Given the description of an element on the screen output the (x, y) to click on. 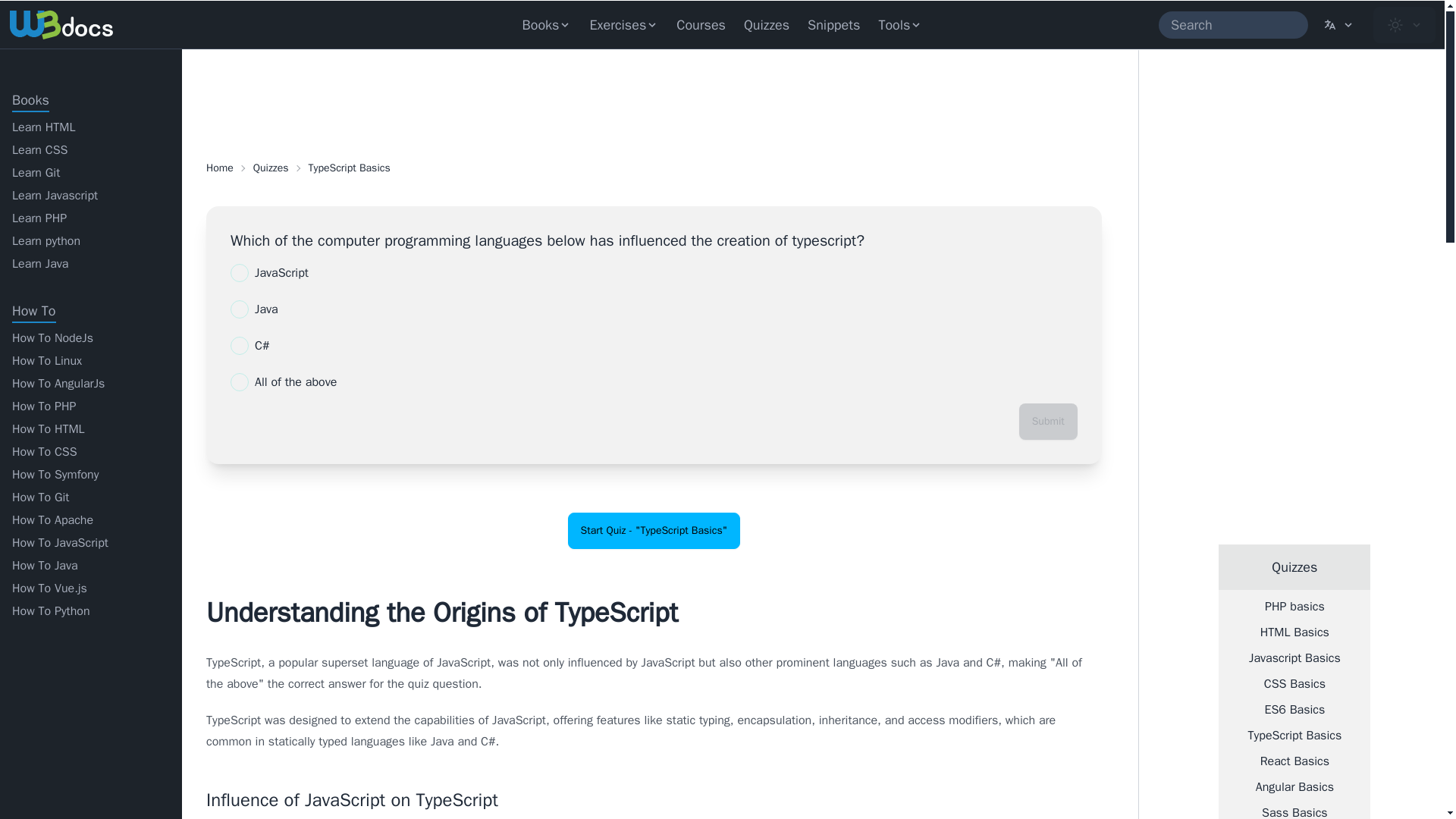
Quizzes (766, 24)
Snippets (833, 24)
1 (239, 382)
Courses (700, 24)
